Given the description of an element on the screen output the (x, y) to click on. 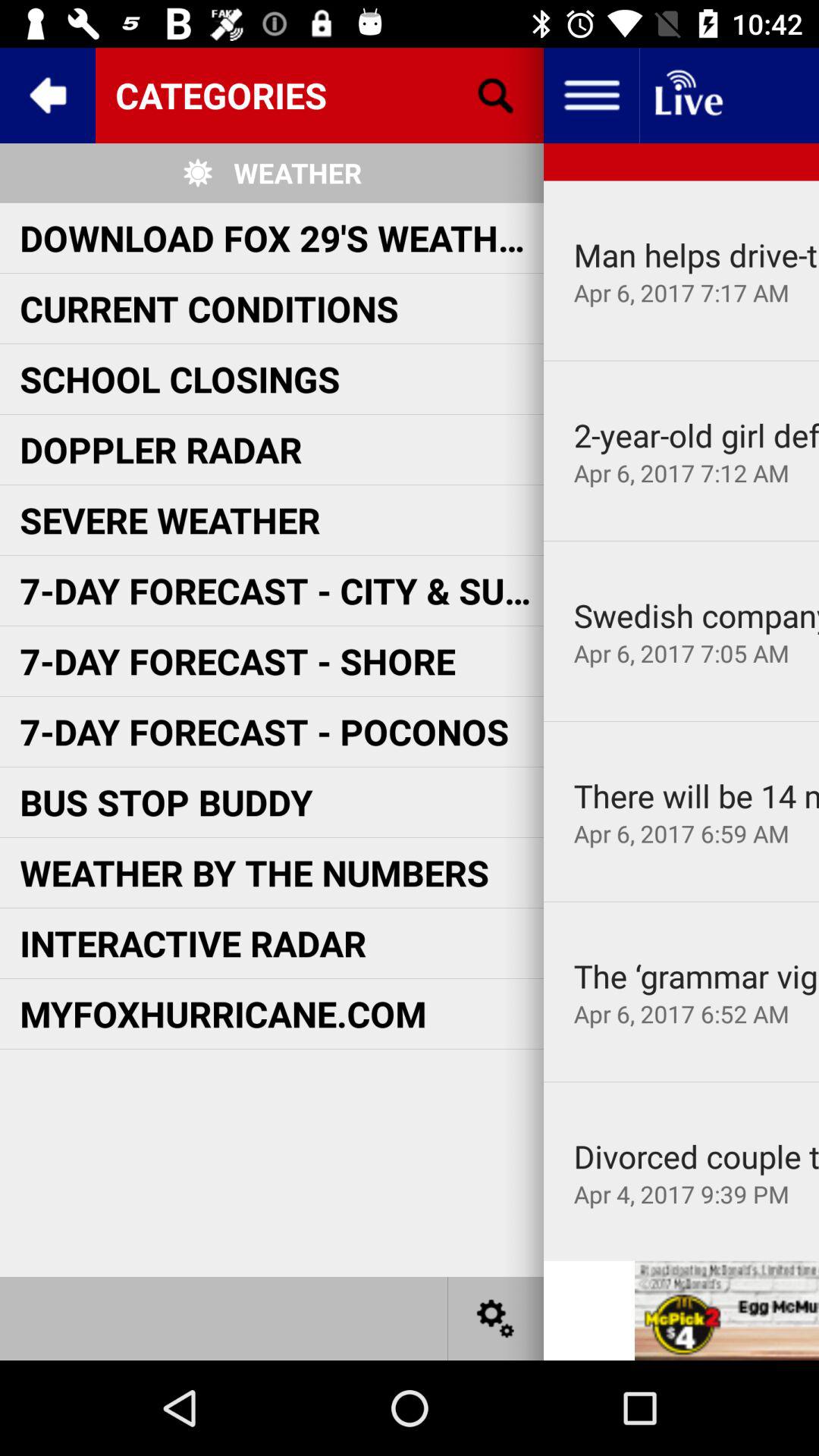
turn on item above the apr 6 2017 app (696, 254)
